Given the description of an element on the screen output the (x, y) to click on. 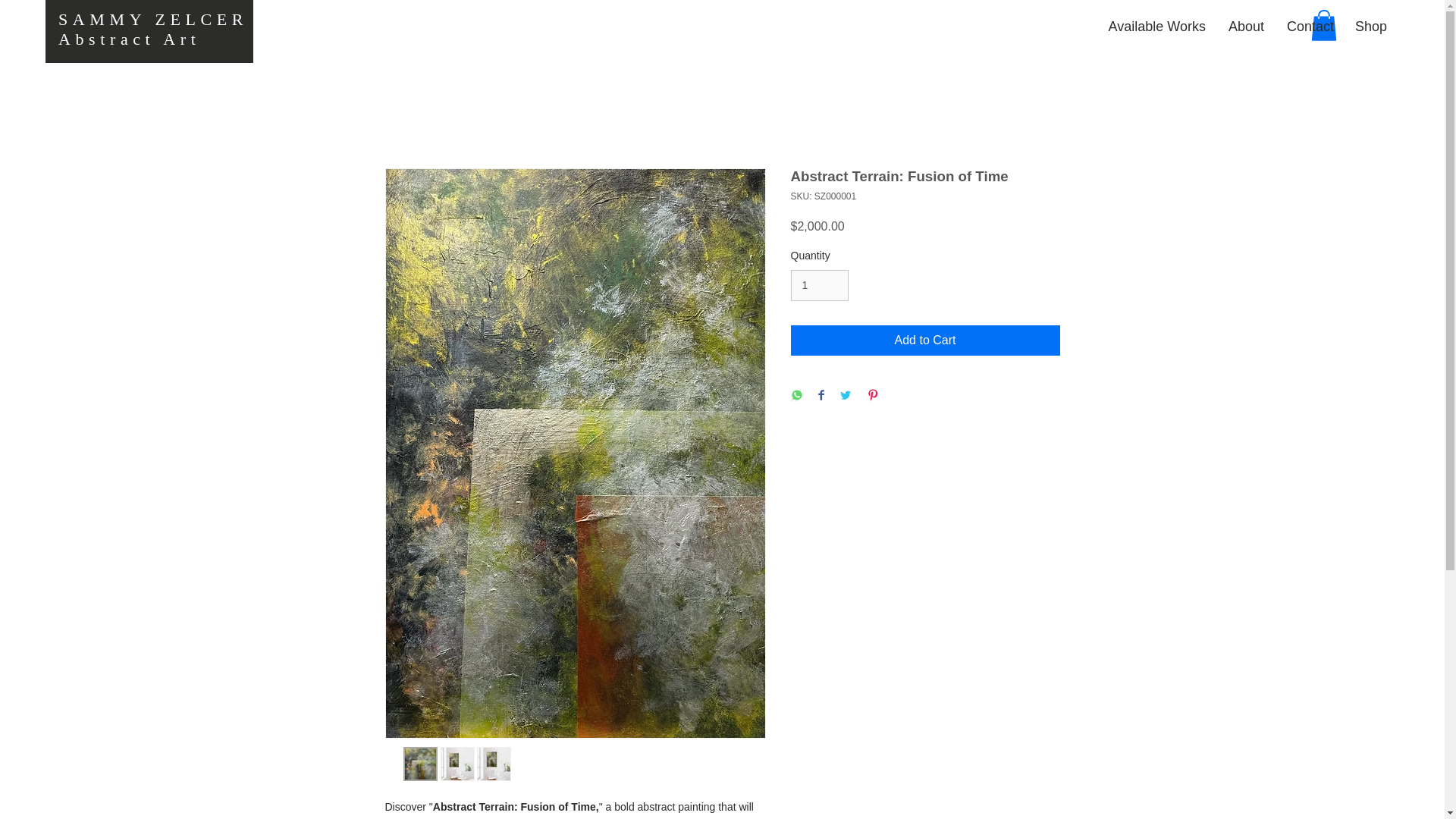
About (1244, 26)
1 (818, 285)
Add to Cart (924, 340)
Contact (1308, 26)
SAMMY ZELCER (152, 18)
Shop (1369, 26)
